Given the description of an element on the screen output the (x, y) to click on. 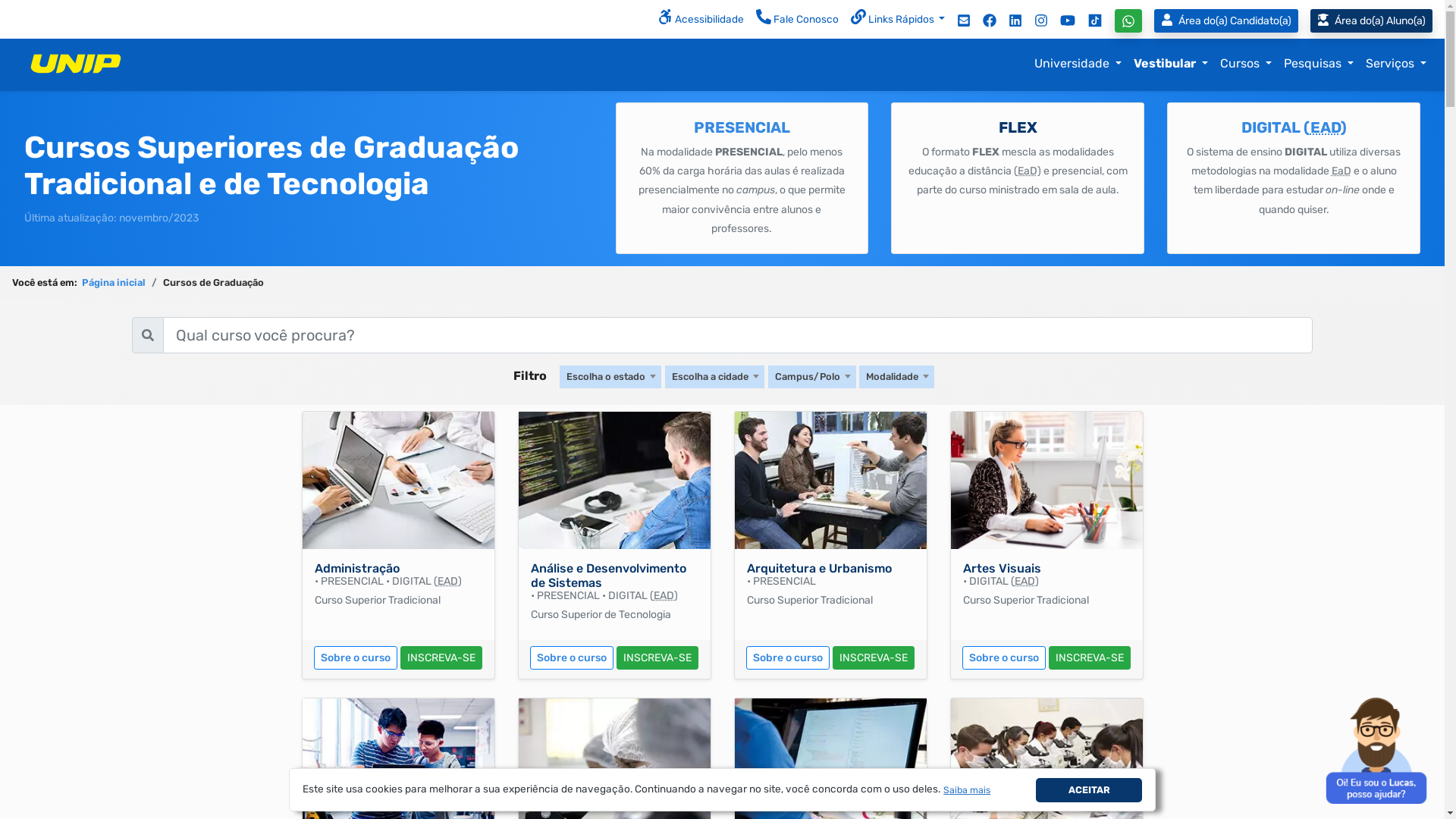
INSCREVA-SE Element type: text (1089, 657)
Inscreva-se no canal da UNIP no YouTube Element type: hover (1067, 20)
Pesquisas Element type: text (1318, 63)
Fale conosco no WhatsApp Element type: hover (1128, 20)
Sobre o curso Element type: text (787, 657)
Saiba mais Element type: text (966, 789)
Sobre o curso Element type: text (1003, 657)
Aluno(a) Element type: text (1371, 20)
Candidato(a) Element type: text (1226, 20)
Acesso ao Webmail Element type: hover (963, 19)
Vestibular Element type: text (1170, 63)
ACEITAR Element type: text (1088, 790)
Siga a UNIP no Linkedin Element type: hover (1015, 19)
Aluno(a) Element type: text (1377, 20)
Fale Conosco Element type: text (796, 19)
INSCREVA-SE Element type: text (657, 657)
Siga a UNIP no Facebook Element type: hover (989, 19)
Candidato(a) Element type: text (1229, 20)
Acessibilidade Element type: text (700, 19)
Universidade Element type: text (1077, 63)
Siga a UNIP no TikTok da UNIP Element type: hover (1094, 20)
INSCREVA-SE Element type: text (873, 657)
Sobre o curso Element type: text (571, 657)
Cursos Element type: text (1245, 63)
Sobre o curso Element type: text (355, 657)
Siga a UNIP no Instagram Element type: hover (1041, 19)
INSCREVA-SE Element type: text (441, 657)
